Given the description of an element on the screen output the (x, y) to click on. 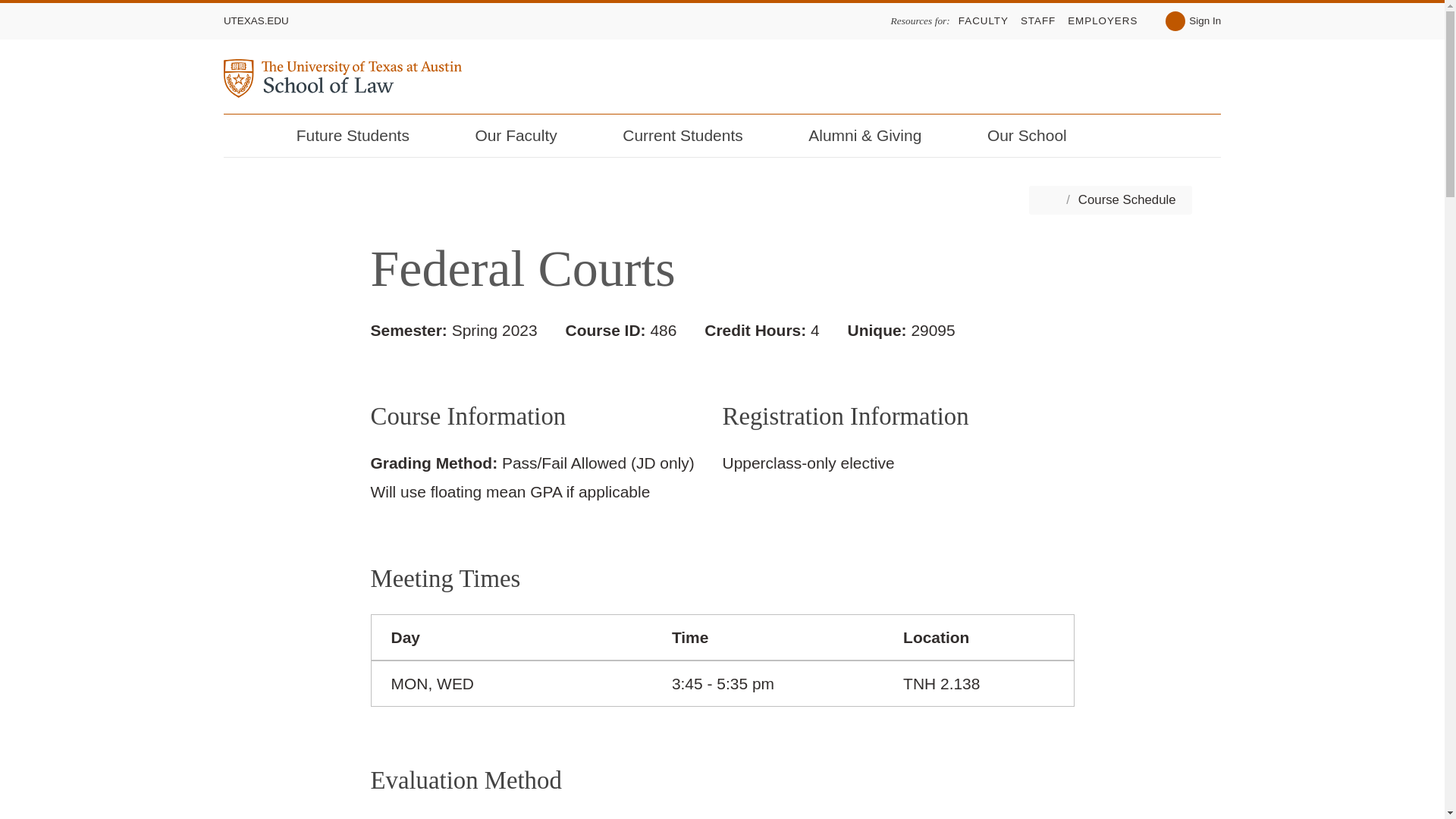
UTEXAS.EDU (256, 20)
STAFF (1037, 20)
Current Students (692, 135)
Our Faculty (526, 135)
FACULTY (983, 20)
Skip to Main Content (21, 4)
Sign In (1193, 21)
Future Students (362, 135)
EMPLOYERS (1102, 20)
